Given the description of an element on the screen output the (x, y) to click on. 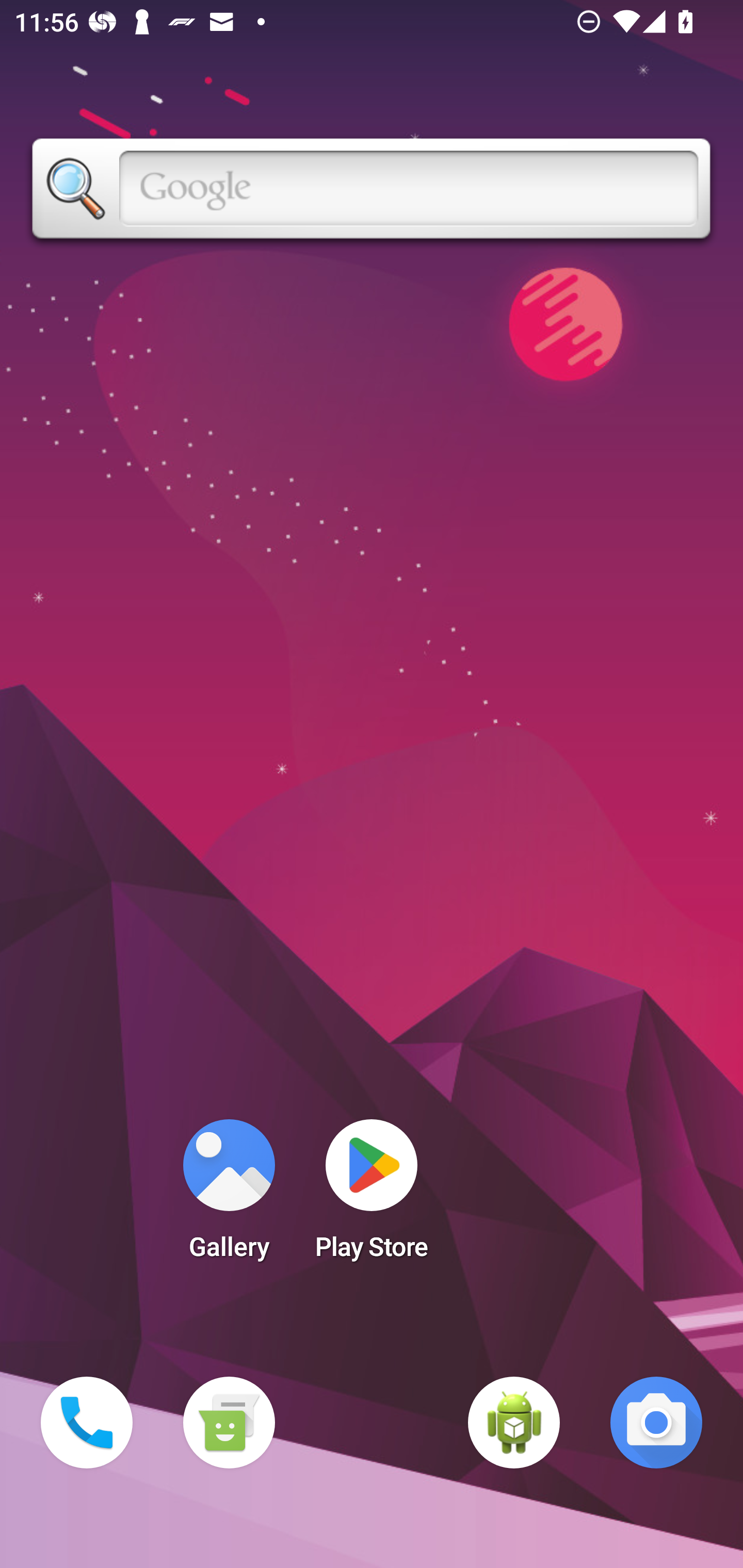
Gallery (228, 1195)
Play Store (371, 1195)
Phone (86, 1422)
Messaging (228, 1422)
WebView Browser Tester (513, 1422)
Camera (656, 1422)
